Given the description of an element on the screen output the (x, y) to click on. 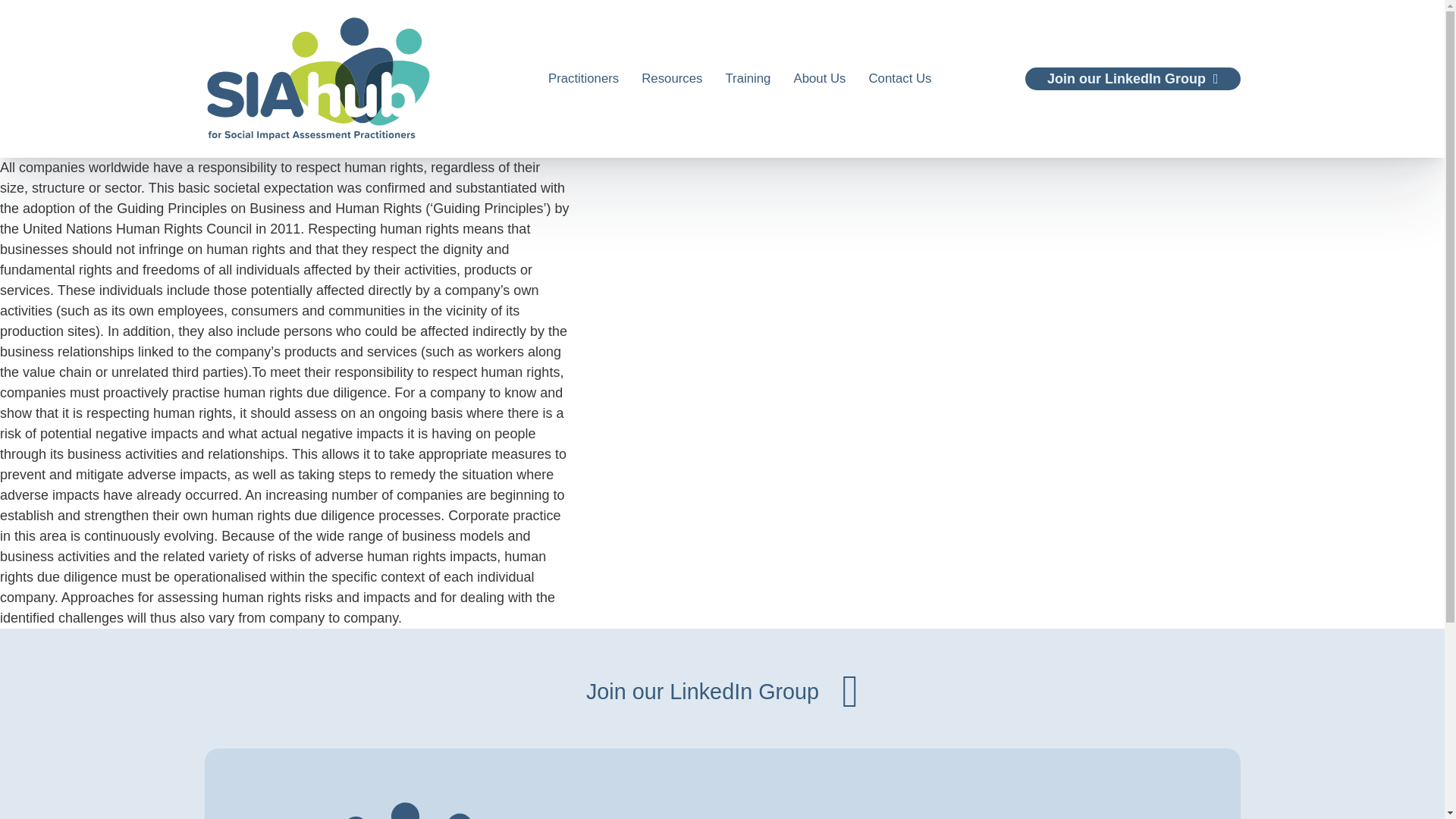
About Us (819, 77)
Training (747, 77)
Practitioners (583, 77)
Join our LinkedIn Group (1132, 78)
Resources (722, 691)
Contact Us (671, 77)
